Given the description of an element on the screen output the (x, y) to click on. 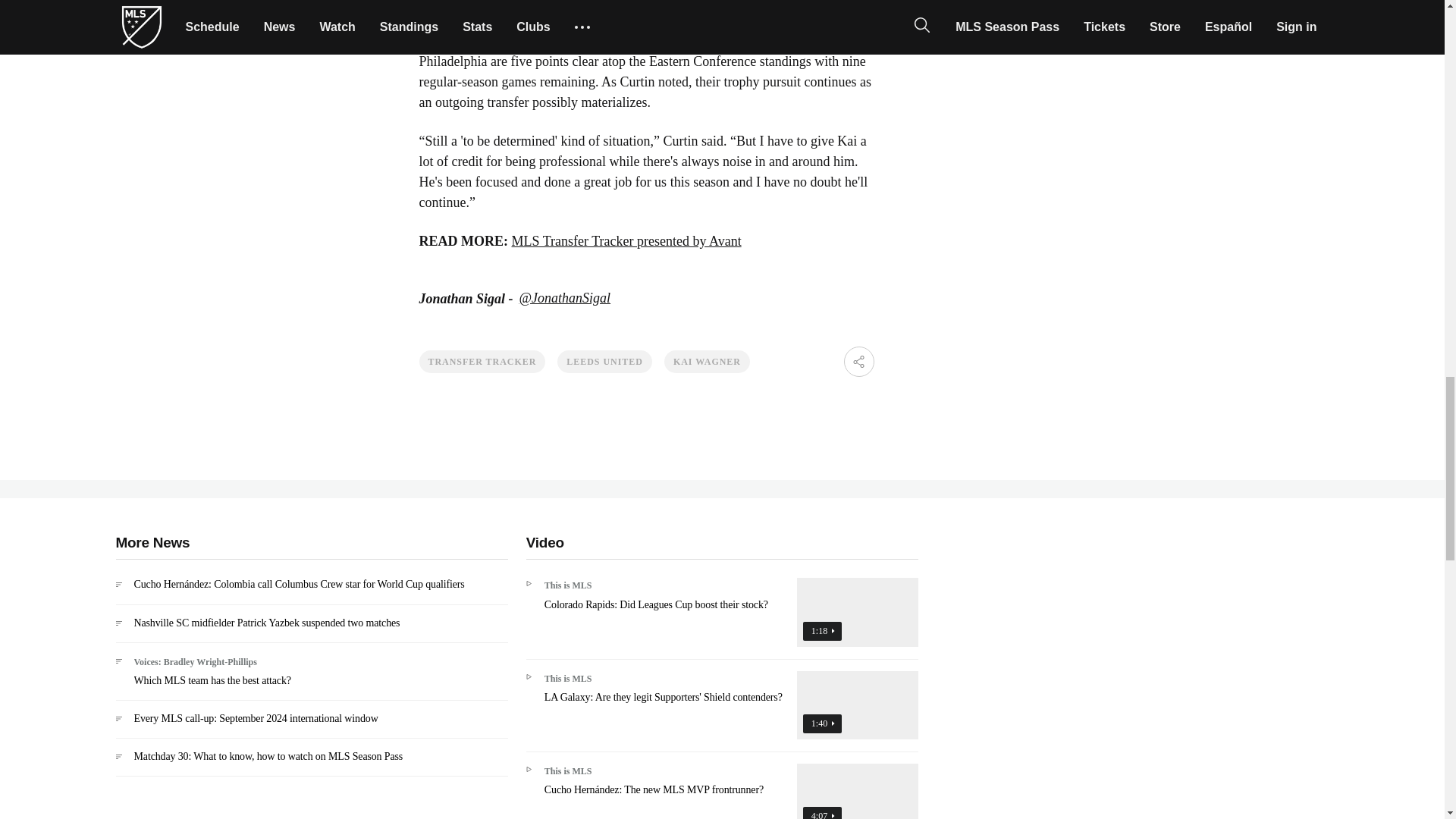
Matchday 30: What to know, how to watch on MLS Season Pass (310, 762)
Colorado Rapids: Did Leagues Cup boost their stock? (721, 618)
Nashville SC midfielder Patrick Yazbek suspended two matches (310, 629)
Go to the Twitter profile (565, 299)
Which MLS team has the best attack? (310, 677)
LA Galaxy: Are they legit Supporters' Shield contenders? (721, 710)
Every MLS call-up: September 2024 international window (310, 724)
